Given the description of an element on the screen output the (x, y) to click on. 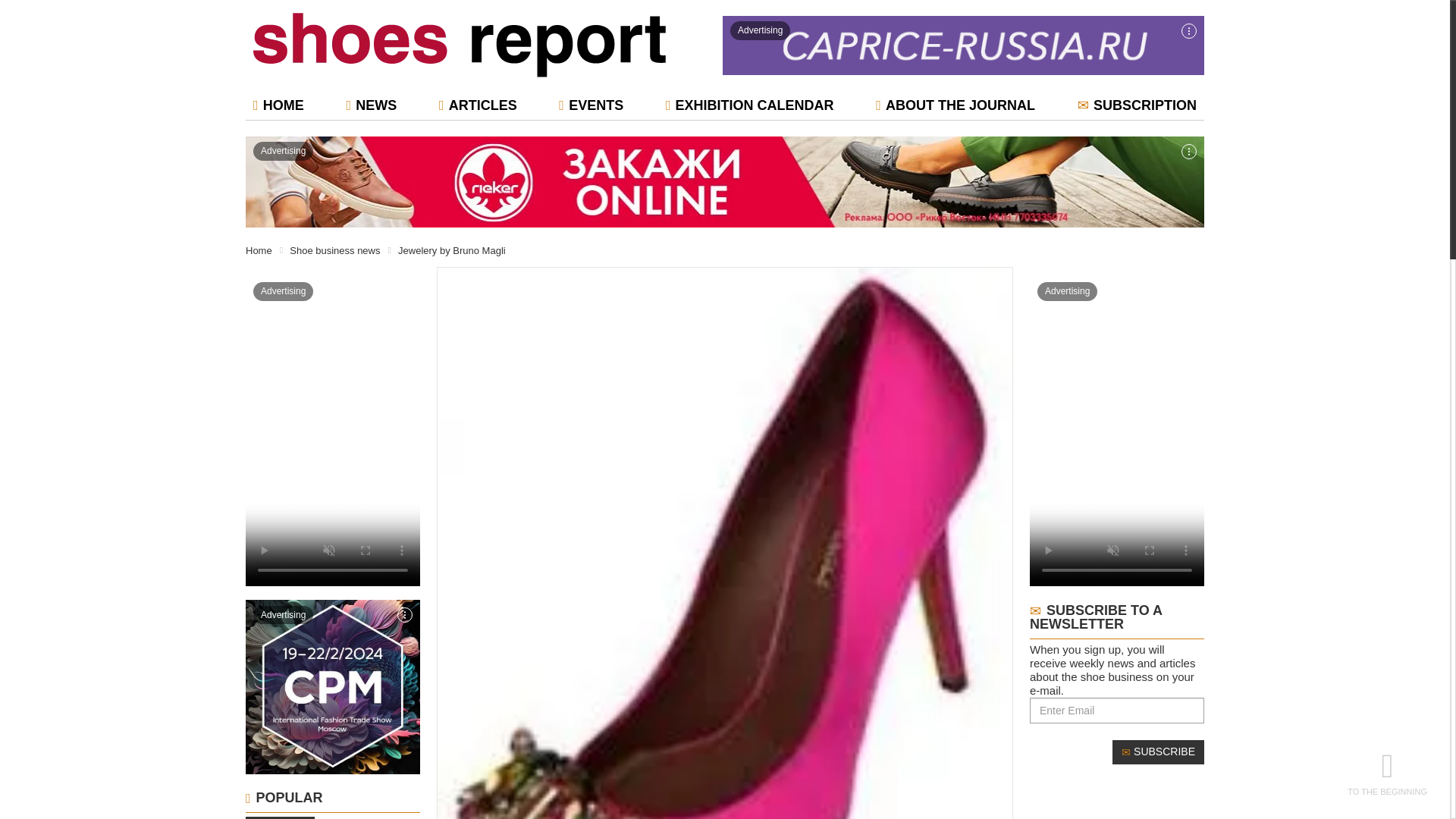
Home (259, 249)
ShoesReport Magazine - Everything about the shoe business (459, 44)
HOME (278, 104)
EXHIBITION CALENDAR (749, 104)
ARTICLES (477, 104)
Shoe business news (334, 249)
NEWS (370, 104)
ABOUT THE JOURNAL (954, 104)
SUBSCRIPTION (1137, 104)
